Given the description of an element on the screen output the (x, y) to click on. 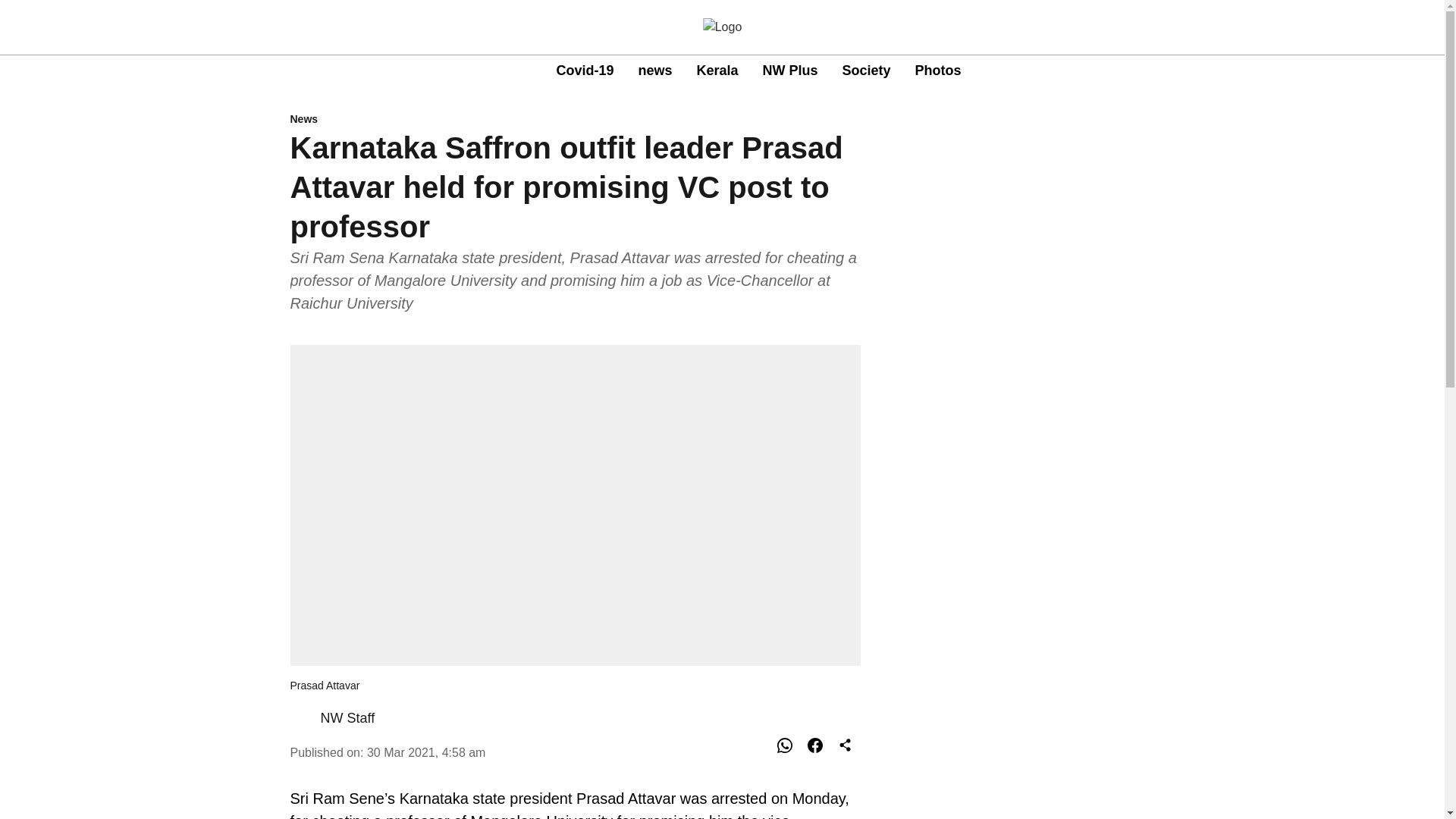
Photos (937, 70)
Covid-19 (584, 70)
Kerala (716, 70)
Society (867, 70)
NW Staff (347, 717)
News (574, 119)
2021-03-30 04:58 (426, 752)
NW Plus (757, 70)
news (790, 70)
